Given the description of an element on the screen output the (x, y) to click on. 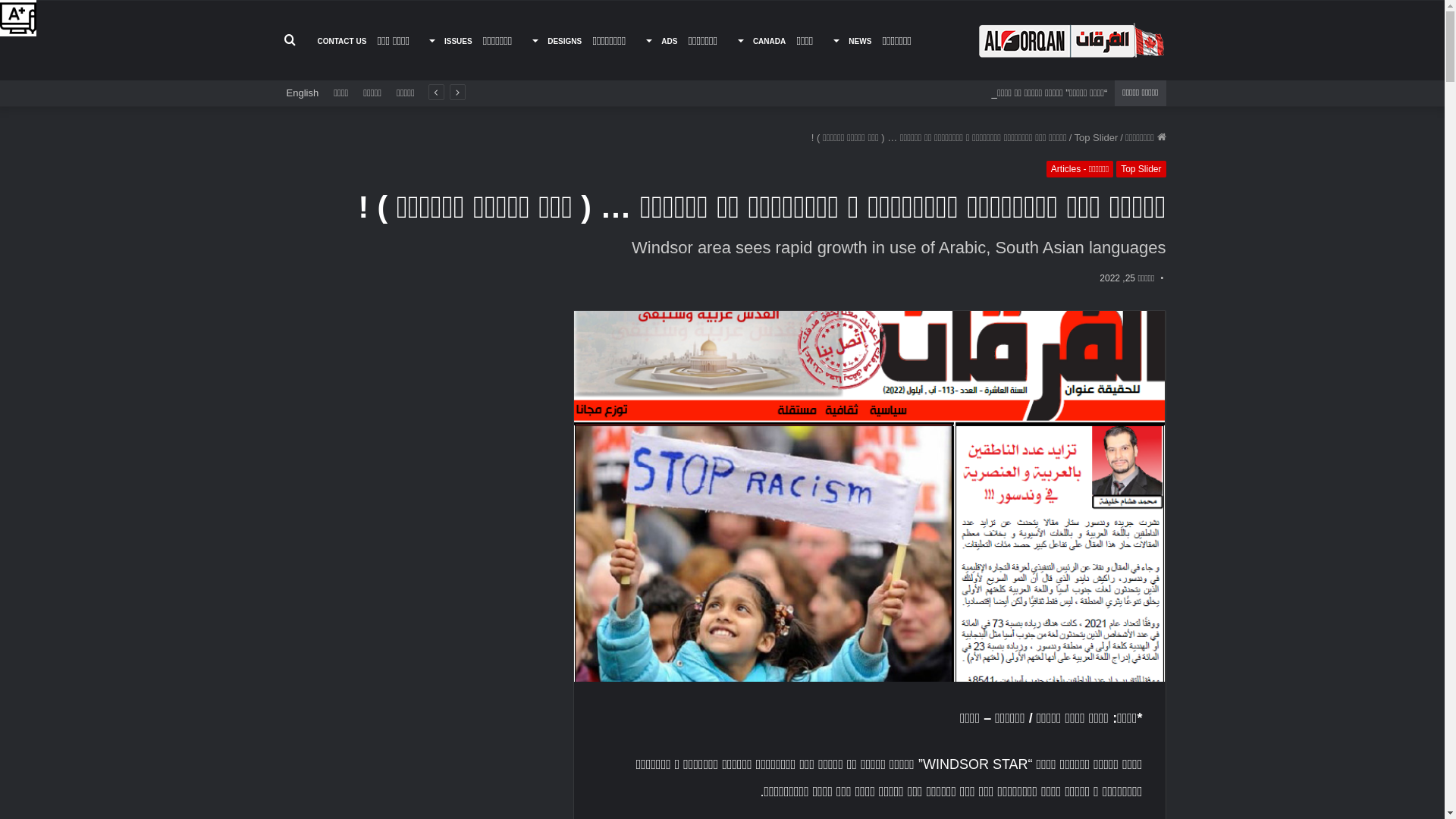
English Element type: text (302, 92)
Top Slider Element type: text (1095, 137)
Top Slider Element type: text (1140, 168)
Accessibility Helper sidebar Element type: hover (18, 18)
